Given the description of an element on the screen output the (x, y) to click on. 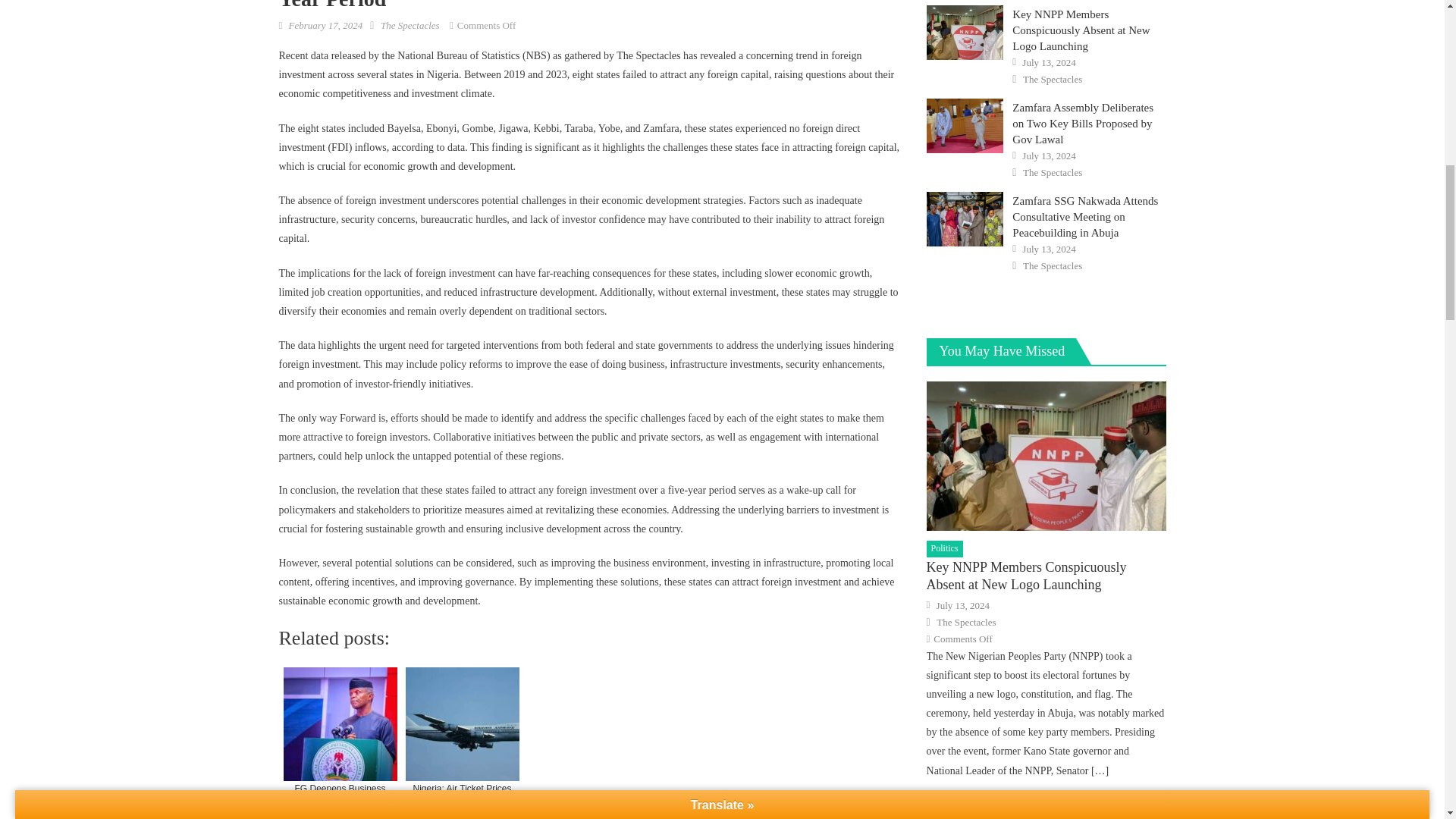
February 17, 2024 (325, 25)
The Spectacles (409, 25)
Key NNPP Members Conspicuously Absent at New Logo Launching (964, 31)
Key NNPP Members Conspicuously Absent at New Logo Launching (1046, 455)
